Given the description of an element on the screen output the (x, y) to click on. 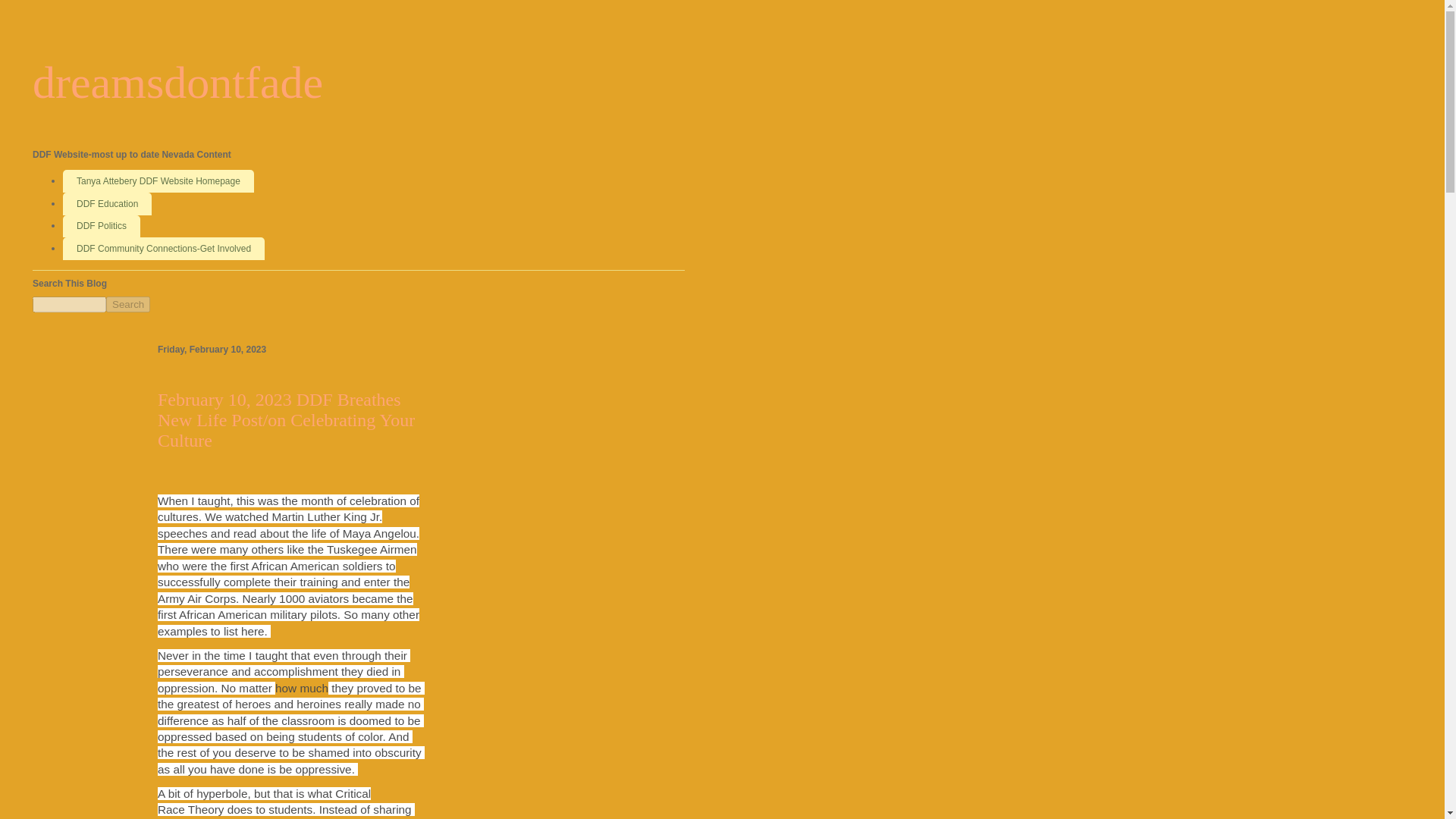
search (127, 304)
search (69, 304)
dreamsdontfade (177, 82)
Search (127, 304)
Tanya Attebery DDF Website Homepage (157, 180)
DDF Community Connections-Get Involved (163, 248)
Search (127, 304)
DDF Politics (100, 226)
Search (127, 304)
DDF Education (106, 203)
